Given the description of an element on the screen output the (x, y) to click on. 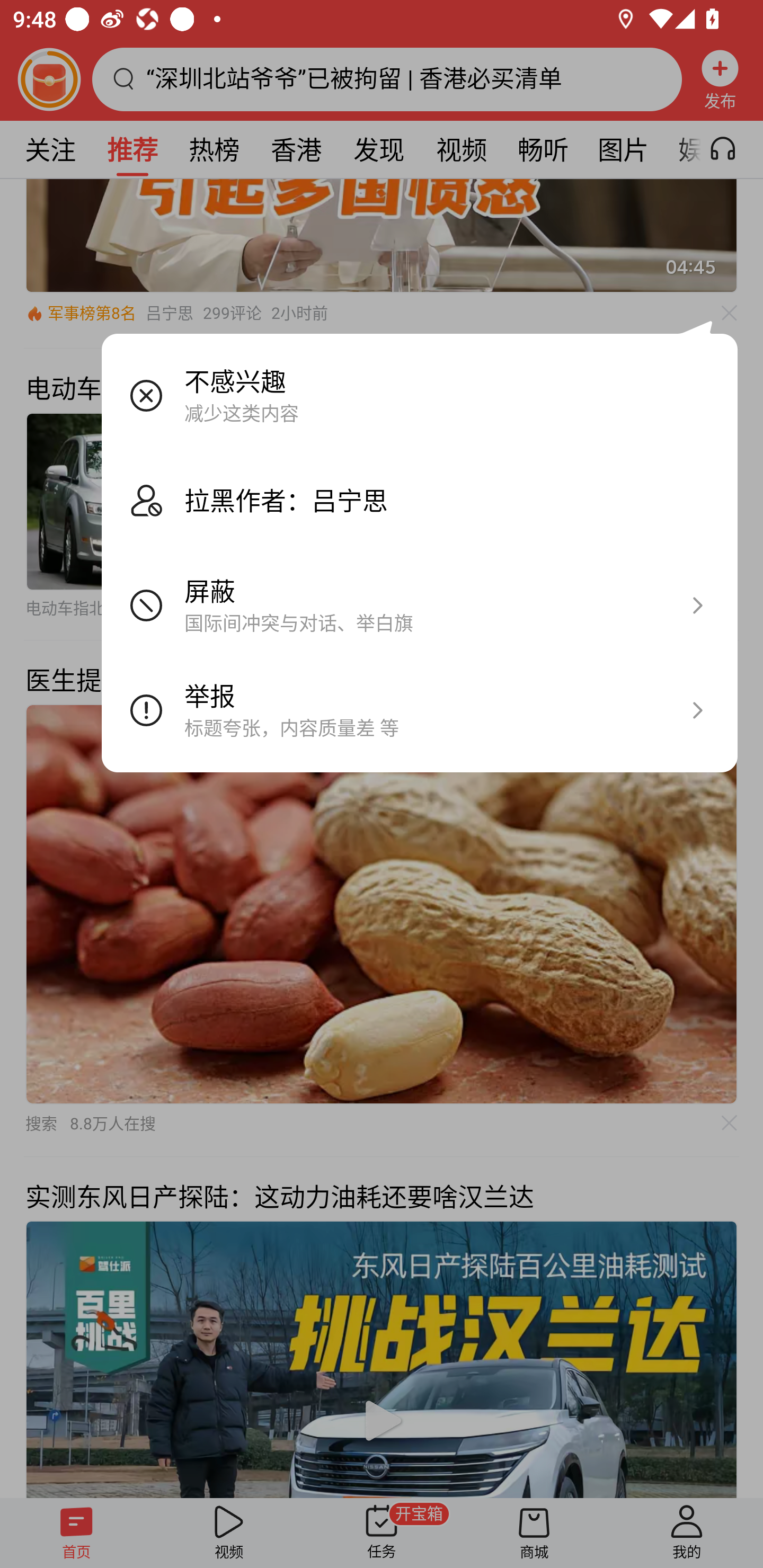
不感兴趣 减少这类内容 (419, 395)
拉黑作者：吕宁思 (419, 500)
屏蔽 国际间冲突与对话、举白旗 (419, 605)
举报 标题夸张，内容质量差 等 (419, 710)
